Given the description of an element on the screen output the (x, y) to click on. 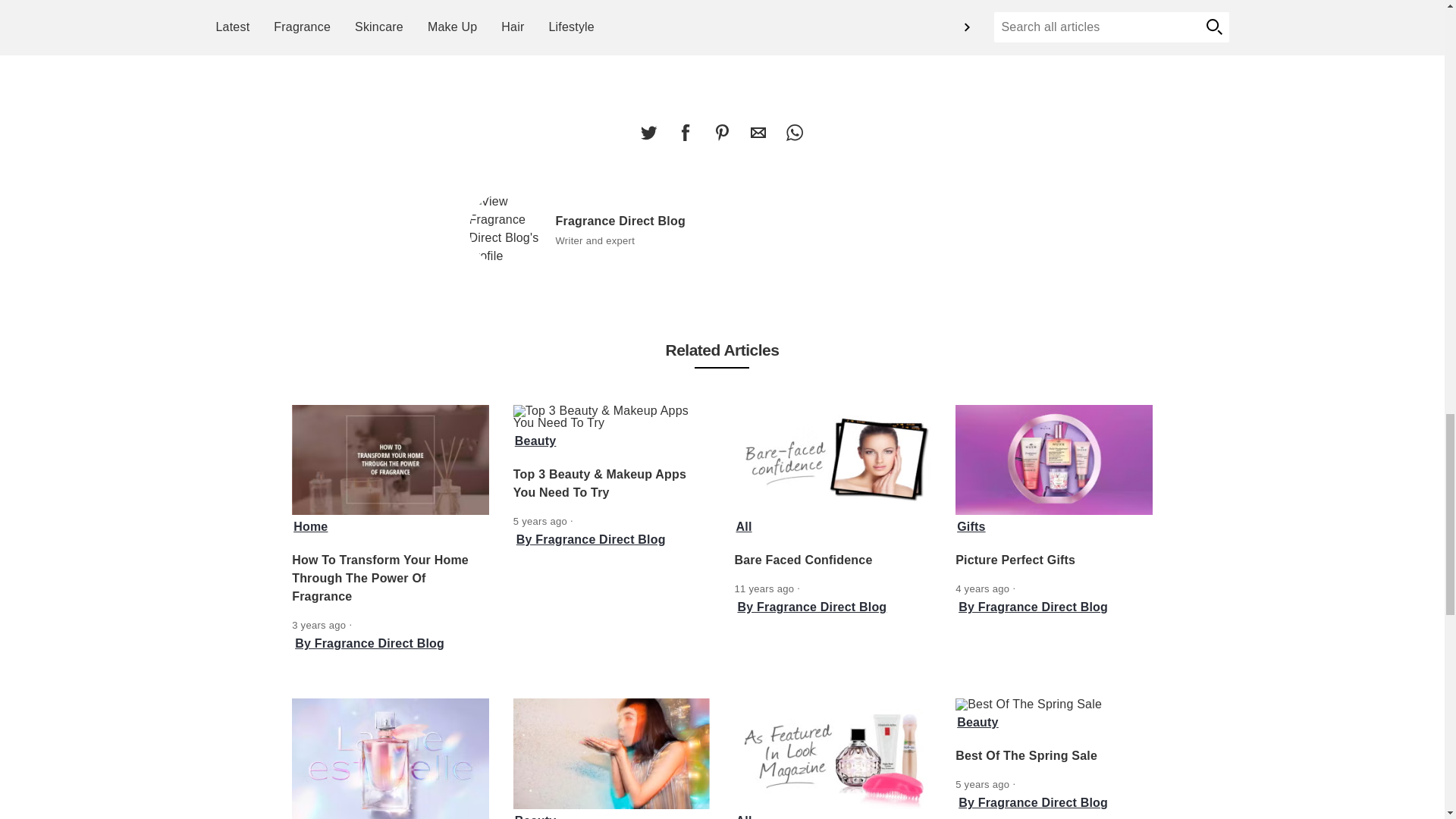
Share this on Twitter (648, 132)
Fragrance Direct Blog (505, 228)
Share this on Pinterest (721, 132)
Share this on WhatsApp (793, 132)
Share this by Email (757, 132)
Share this on Facebook (684, 132)
